Given the description of an element on the screen output the (x, y) to click on. 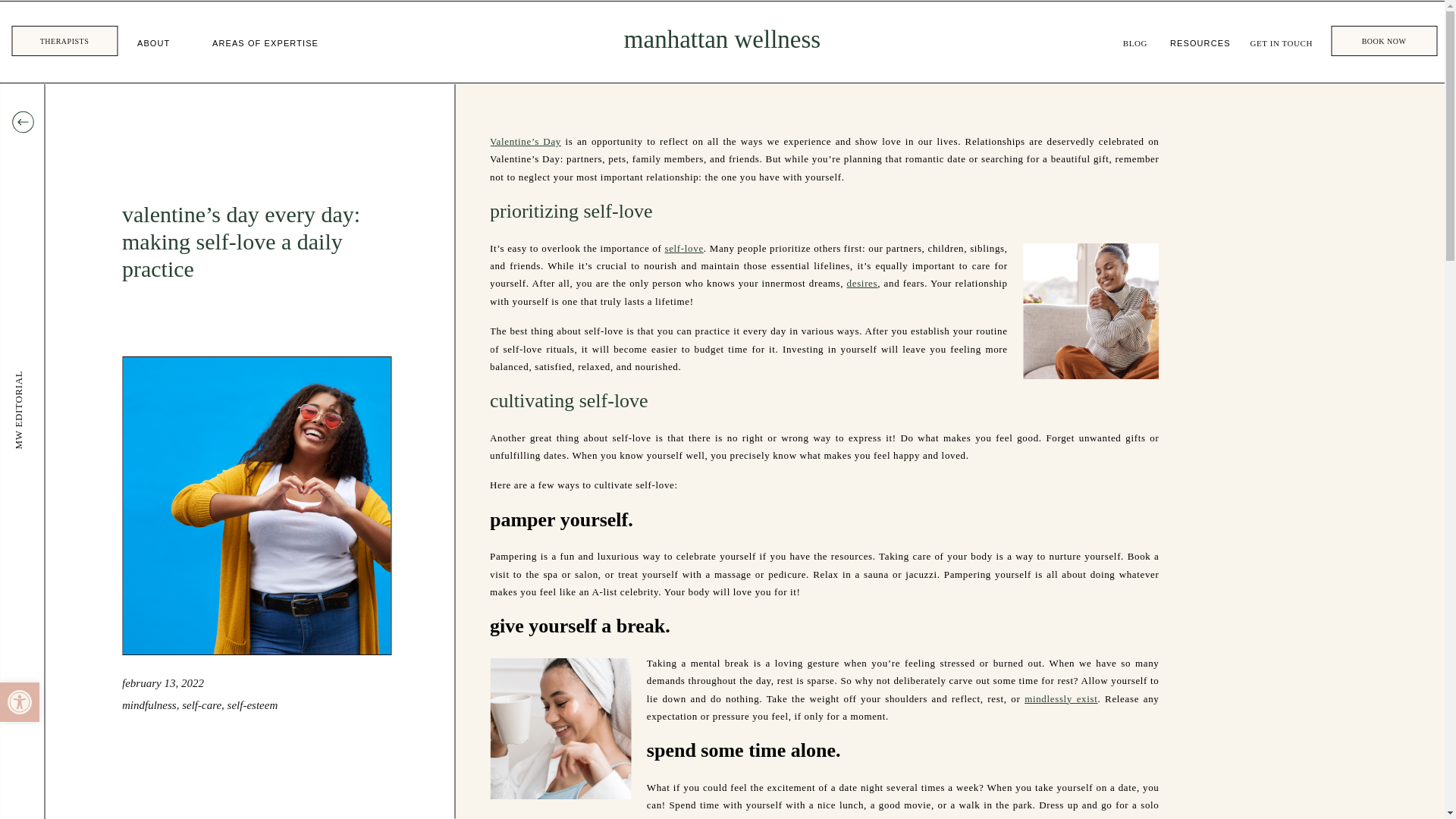
manhattan wellness (721, 41)
Light Background (19, 701)
THERAPISTS (19, 701)
Negative Contrast (64, 40)
Negative Contrast (153, 43)
